Given the description of an element on the screen output the (x, y) to click on. 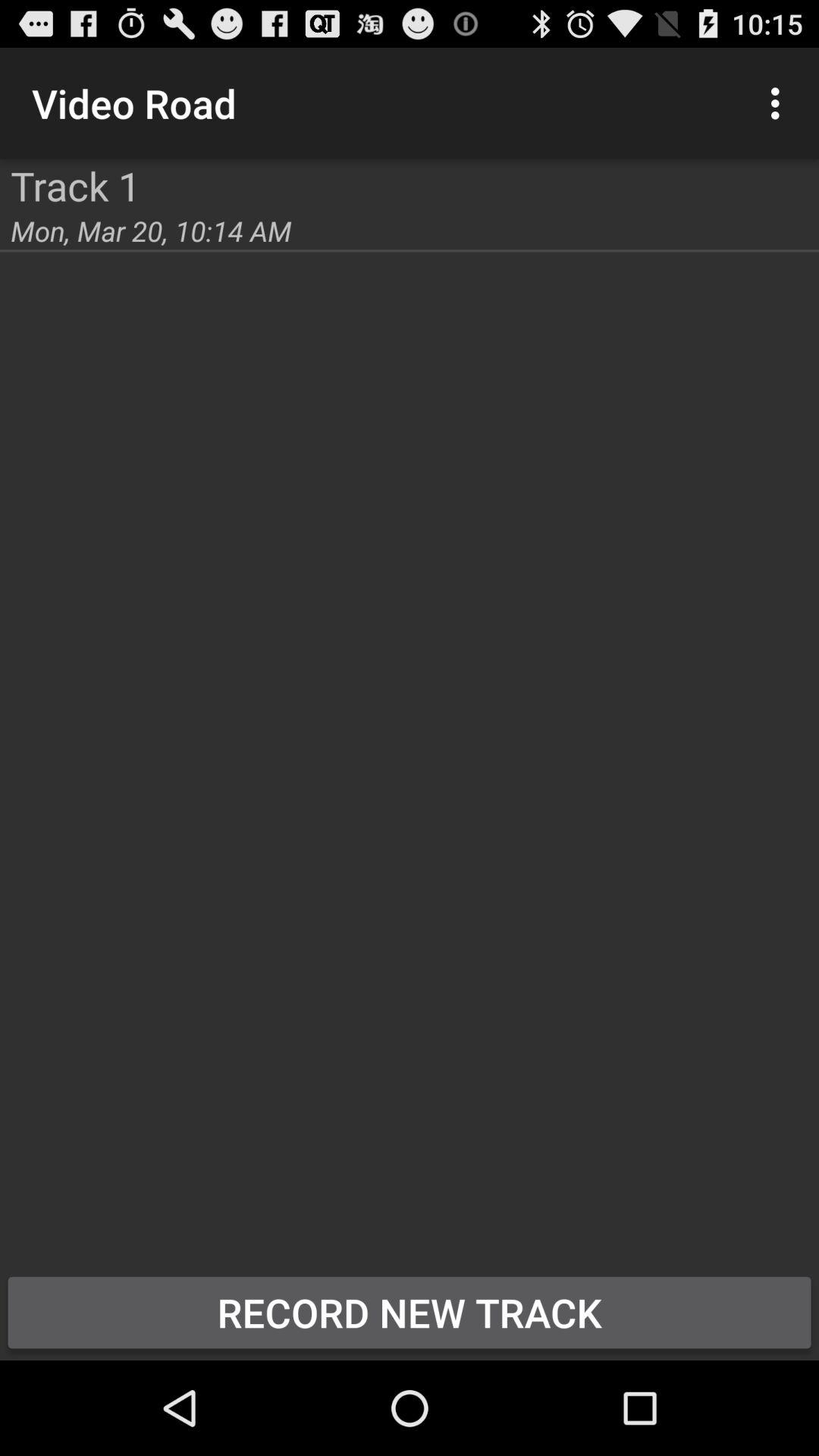
press record new track at the bottom (409, 1312)
